Given the description of an element on the screen output the (x, y) to click on. 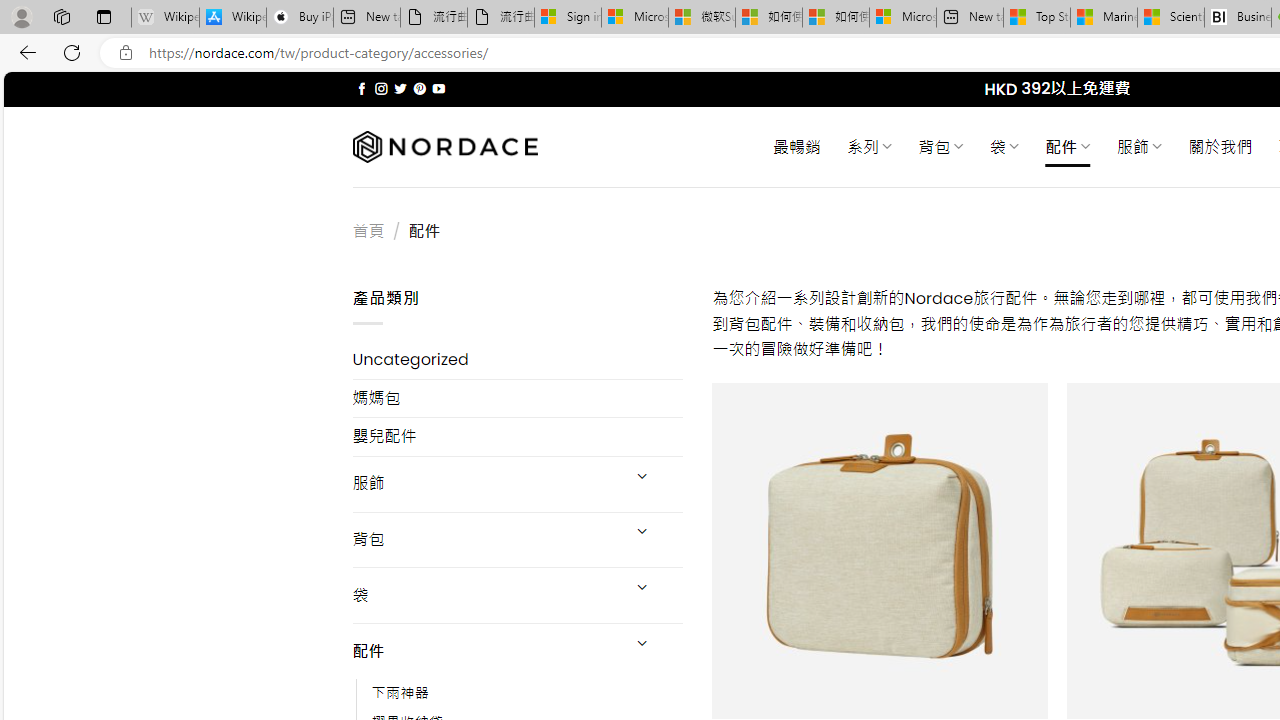
Buy iPad - Apple (299, 17)
Follow on Instagram (381, 88)
Follow on YouTube (438, 88)
Follow on Twitter (400, 88)
